Given the description of an element on the screen output the (x, y) to click on. 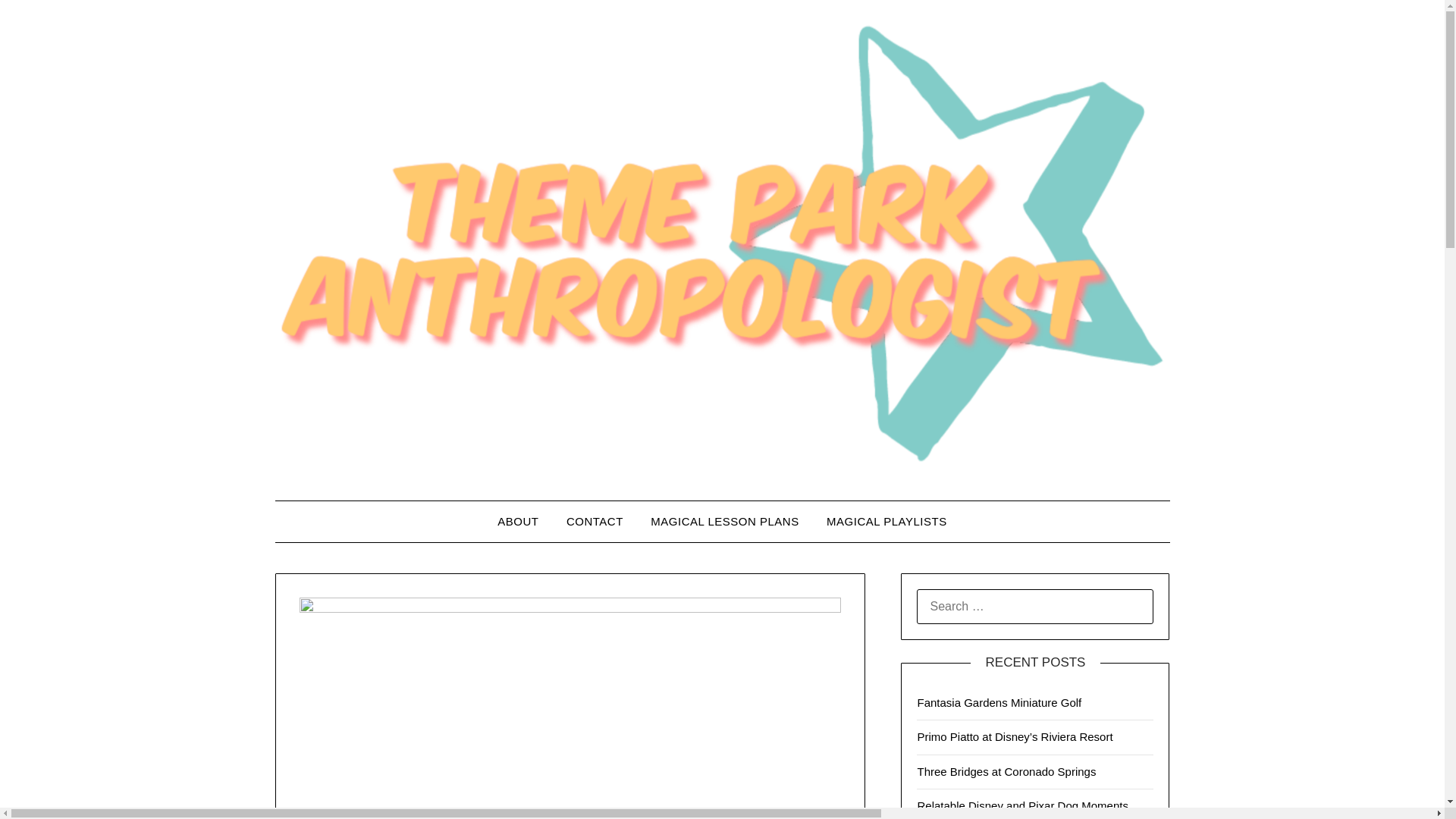
Three Bridges at Coronado Springs (1006, 771)
MAGICAL LESSON PLANS (724, 521)
Fantasia Gardens Miniature Golf (999, 702)
Relatable Disney and Pixar Dog Moments (1021, 805)
ABOUT (517, 521)
Search (38, 22)
MAGICAL PLAYLISTS (886, 521)
CONTACT (594, 521)
